Given the description of an element on the screen output the (x, y) to click on. 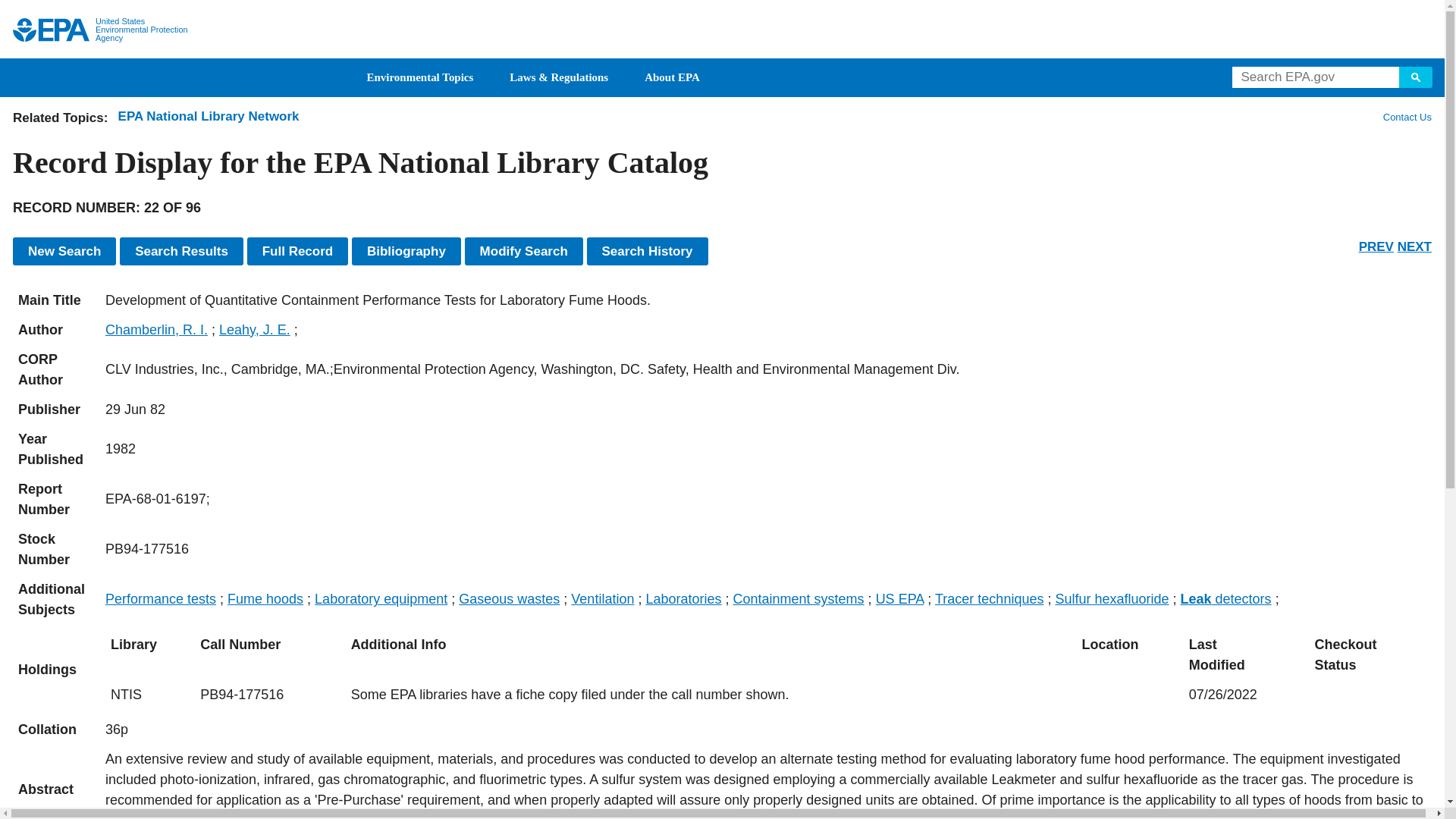
Show results in bibliographic format (406, 251)
Contact Us (1406, 117)
Performance tests (159, 598)
Jump to main content (723, 9)
PREV (1375, 246)
Laboratory equipment (380, 598)
Search Results (181, 251)
EPA National Library Network (208, 115)
Bibliography (406, 251)
Go to the home page (50, 29)
US EPA (50, 29)
Contact the EPA National Library Network (1407, 117)
Environmental Topics (420, 77)
